Given the description of an element on the screen output the (x, y) to click on. 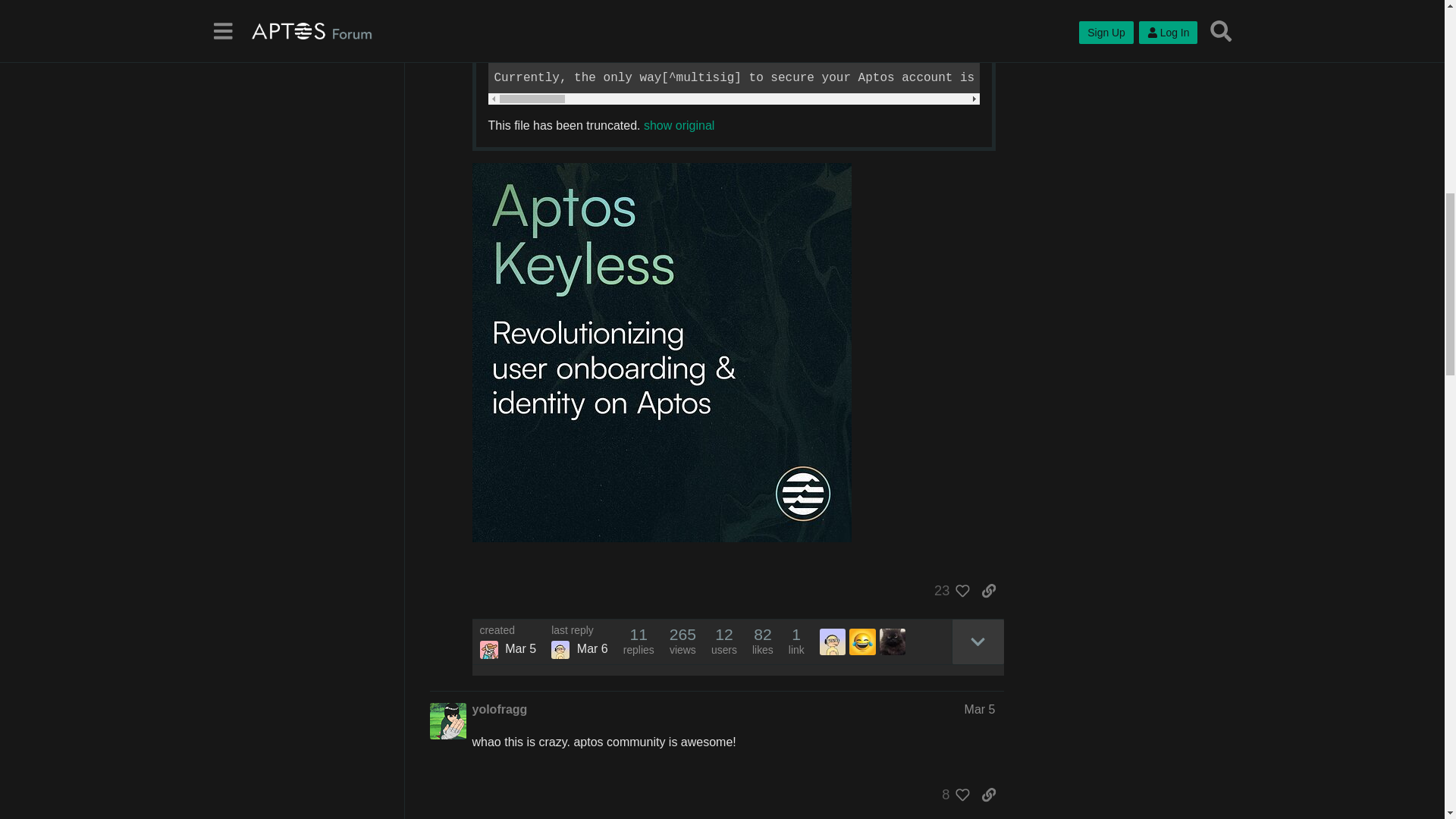
show original (678, 124)
23 (947, 590)
